Given the description of an element on the screen output the (x, y) to click on. 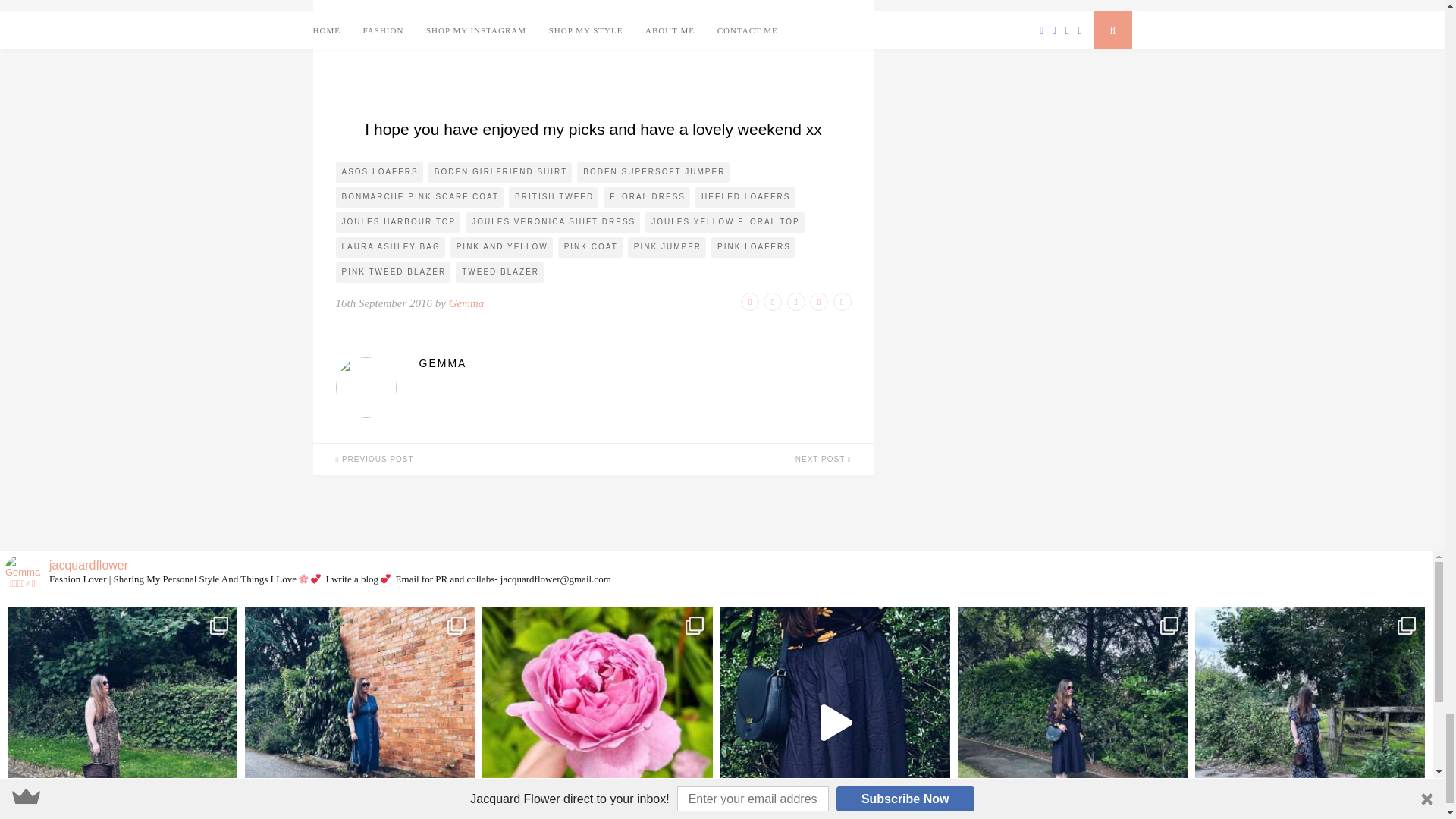
Posts by Gemma (634, 363)
Posts by Gemma (466, 303)
